Given the description of an element on the screen output the (x, y) to click on. 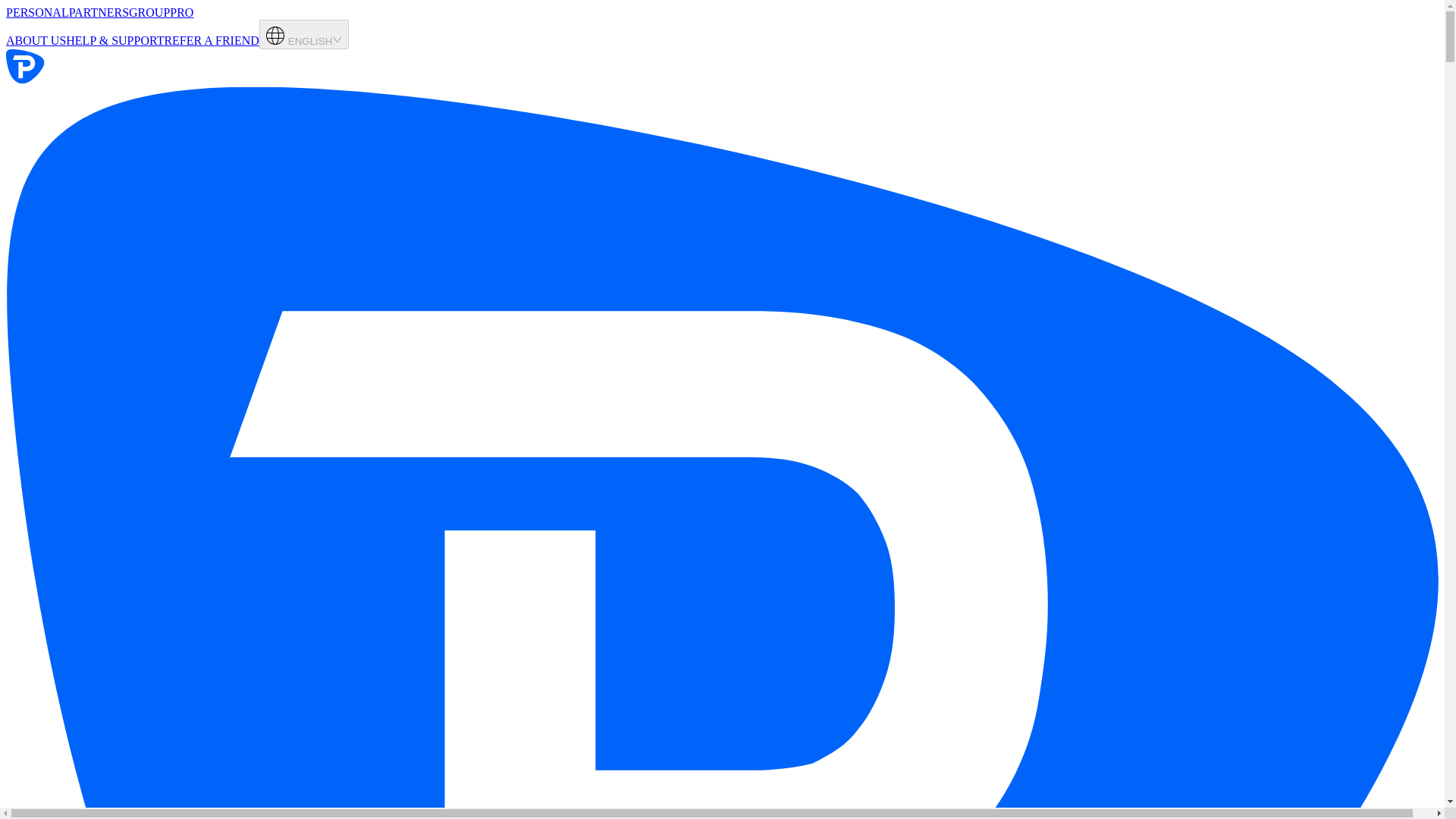
Homepage (94, 79)
PRO (181, 11)
PERSONAL (36, 11)
GROUP (149, 11)
GROUP (149, 11)
REFER A FRIEND (211, 40)
ABOUT US (35, 40)
PARTNERS (98, 11)
ENGLISH (304, 34)
PARTNERS (98, 11)
ABOUT US (35, 40)
PRO (181, 11)
PERSONAL (36, 11)
REFER A FRIEND (211, 40)
